Given the description of an element on the screen output the (x, y) to click on. 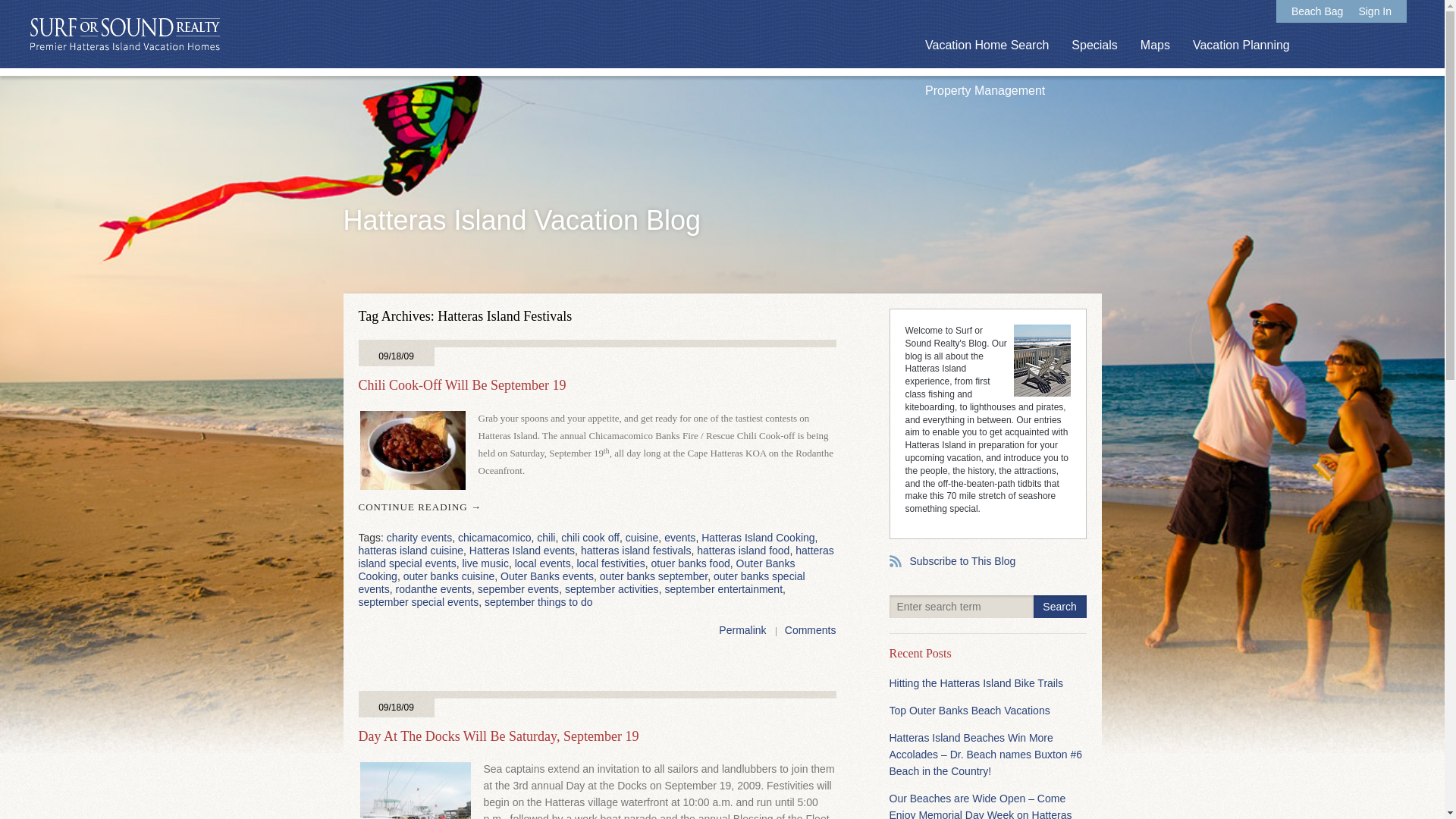
Surf or Sound Realty. Premier Hatteras Island Vacation Homes (124, 34)
Beach Bag (1317, 10)
Specials (1093, 44)
Vacation Home Search (986, 44)
Vacation Planning (1241, 44)
Sign In (1374, 10)
